Given the description of an element on the screen output the (x, y) to click on. 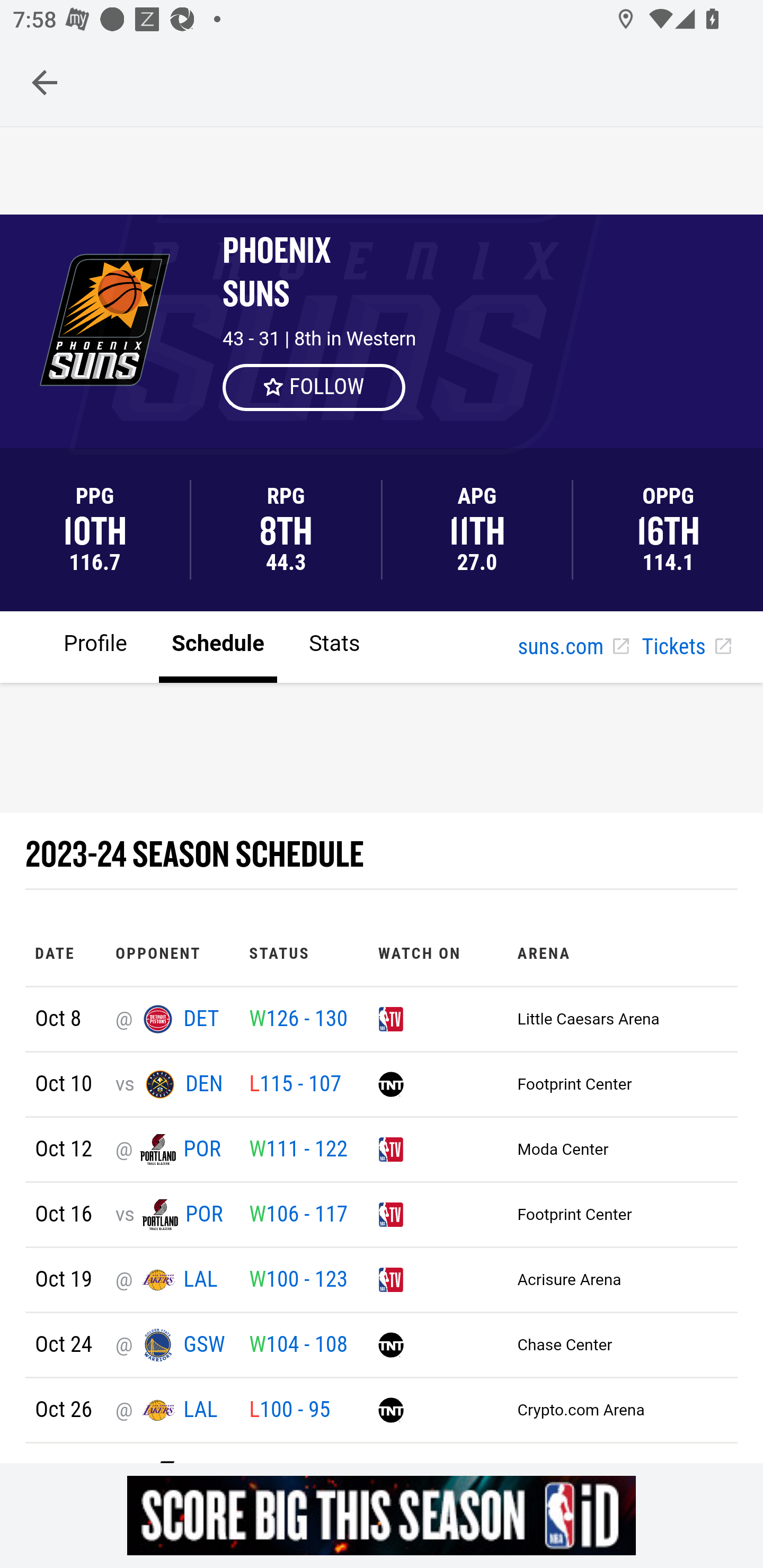
Navigate up (44, 82)
FOLLOW (314, 386)
Profile (95, 646)
Schedule (217, 646)
Stats (334, 646)
suns.com (572, 647)
Tickets (685, 647)
DATE (65, 953)
OPPONENT (172, 953)
STATUS (303, 953)
WATCH ON (437, 953)
ARENA (619, 953)
@ DET Logo DET @ DET Logo DET (172, 1019)
W126 - 130 W 126 - 130 (297, 1019)
vs DEN Logo DEN vs DEN Logo DEN (172, 1083)
L115 - 107 L 115 - 107 (294, 1083)
@ POR Logo POR @ POR Logo POR (172, 1149)
W111 - 122 W 111 - 122 (297, 1149)
vs POR Logo POR vs POR Logo POR (172, 1214)
W106 - 117 W 106 - 117 (297, 1214)
@ LAL Logo LAL @ LAL Logo LAL (172, 1279)
W100 - 123 W 100 - 123 (297, 1279)
@ GSW Logo GSW @ GSW Logo GSW (172, 1344)
W104 - 108 W 104 - 108 (297, 1345)
@ LAL Logo LAL @ LAL Logo LAL (172, 1410)
L100 - 95 L 100 - 95 (288, 1410)
g5nqqygr7owph (381, 1515)
